Given the description of an element on the screen output the (x, y) to click on. 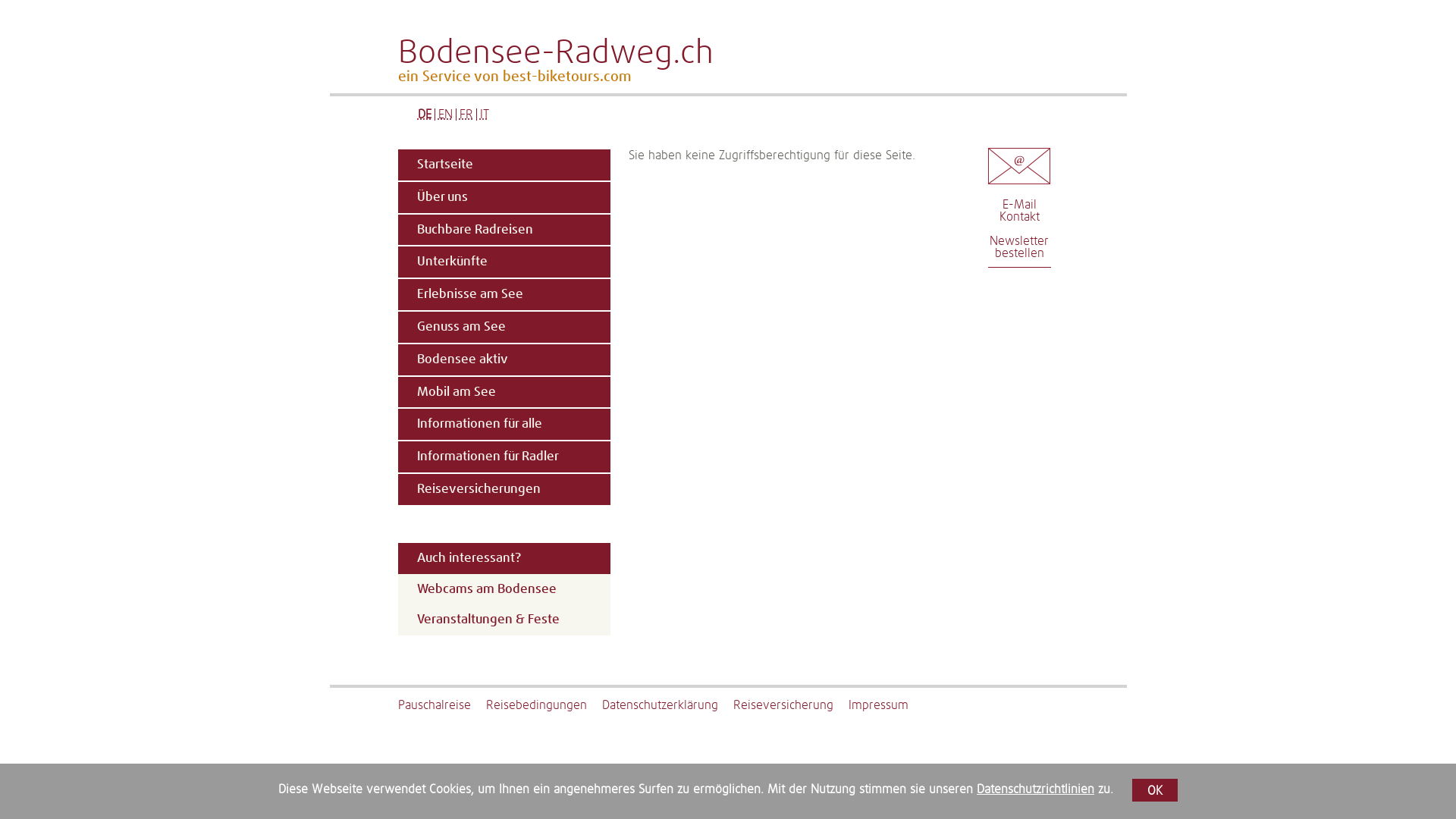
Bodensee aktiv Element type: text (502, 359)
Startseite Element type: text (503, 164)
Veranstaltungen & Feste Element type: text (503, 619)
DE Element type: text (424, 114)
best-biketours.com Element type: text (566, 76)
Reiseversicherungen Element type: text (502, 489)
Genuss am See Element type: text (502, 326)
IT Element type: text (484, 114)
Pauschalreise Element type: text (441, 705)
Reiseversicherungen Element type: text (503, 489)
Datenschutzrichtlinien Element type: text (1035, 789)
Webcams am Bodensee Element type: text (503, 589)
Reiseversicherung Element type: text (789, 705)
Mobil am See Element type: text (502, 391)
Bodensee-Radweg.ch Element type: text (761, 53)
E-Mail Kontakt Element type: text (1019, 210)
EN Element type: text (444, 114)
Newsletter bestellen Element type: text (1018, 247)
Startseite Element type: text (502, 164)
Buchbare Radreisen Element type: text (502, 229)
FR Element type: text (465, 114)
Reisebedingungen Element type: text (543, 705)
Erlebnisse am See Element type: text (502, 294)
Impressum Element type: text (884, 705)
OK Element type: text (1154, 789)
